Given the description of an element on the screen output the (x, y) to click on. 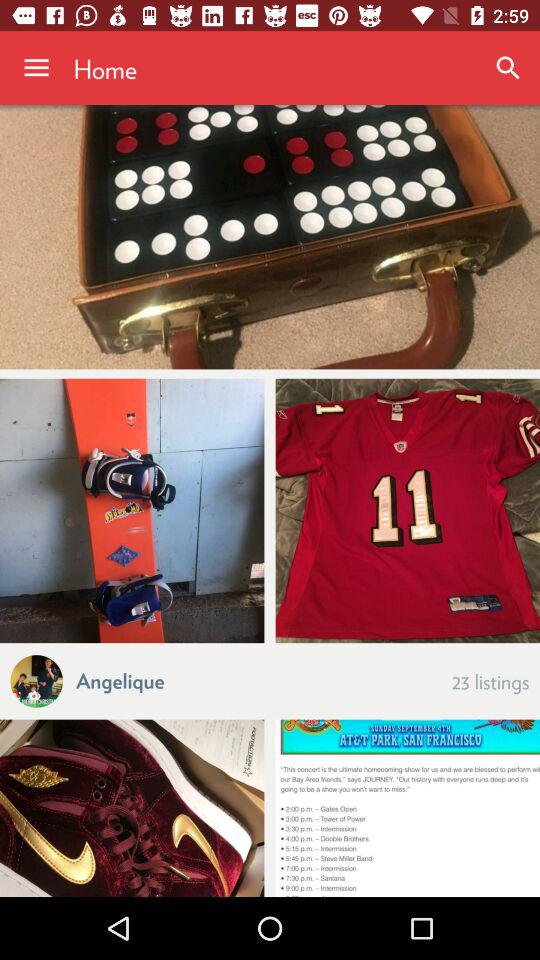
turn off the item on the left (132, 510)
